Given the description of an element on the screen output the (x, y) to click on. 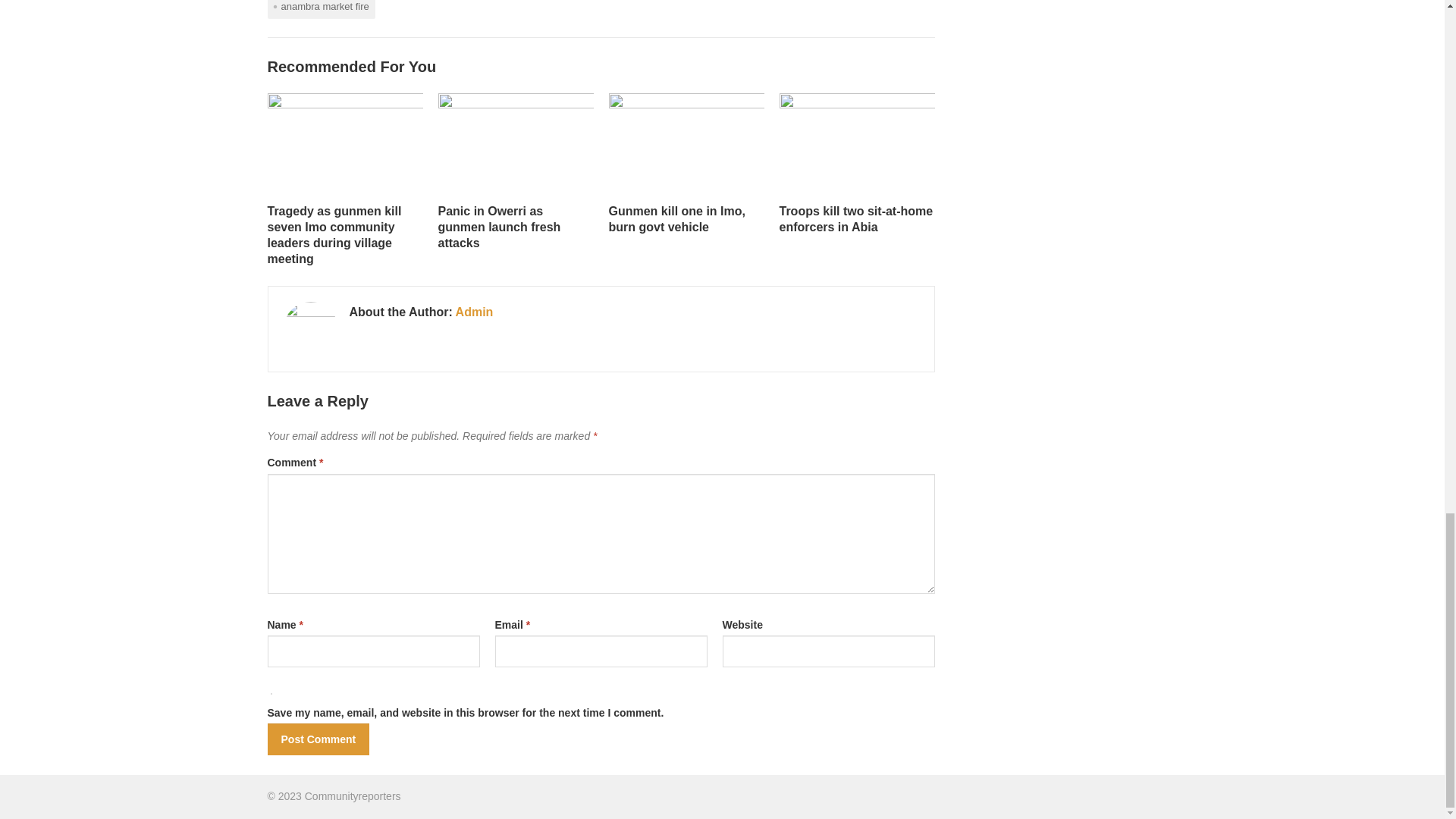
Post Comment (317, 739)
